Given the description of an element on the screen output the (x, y) to click on. 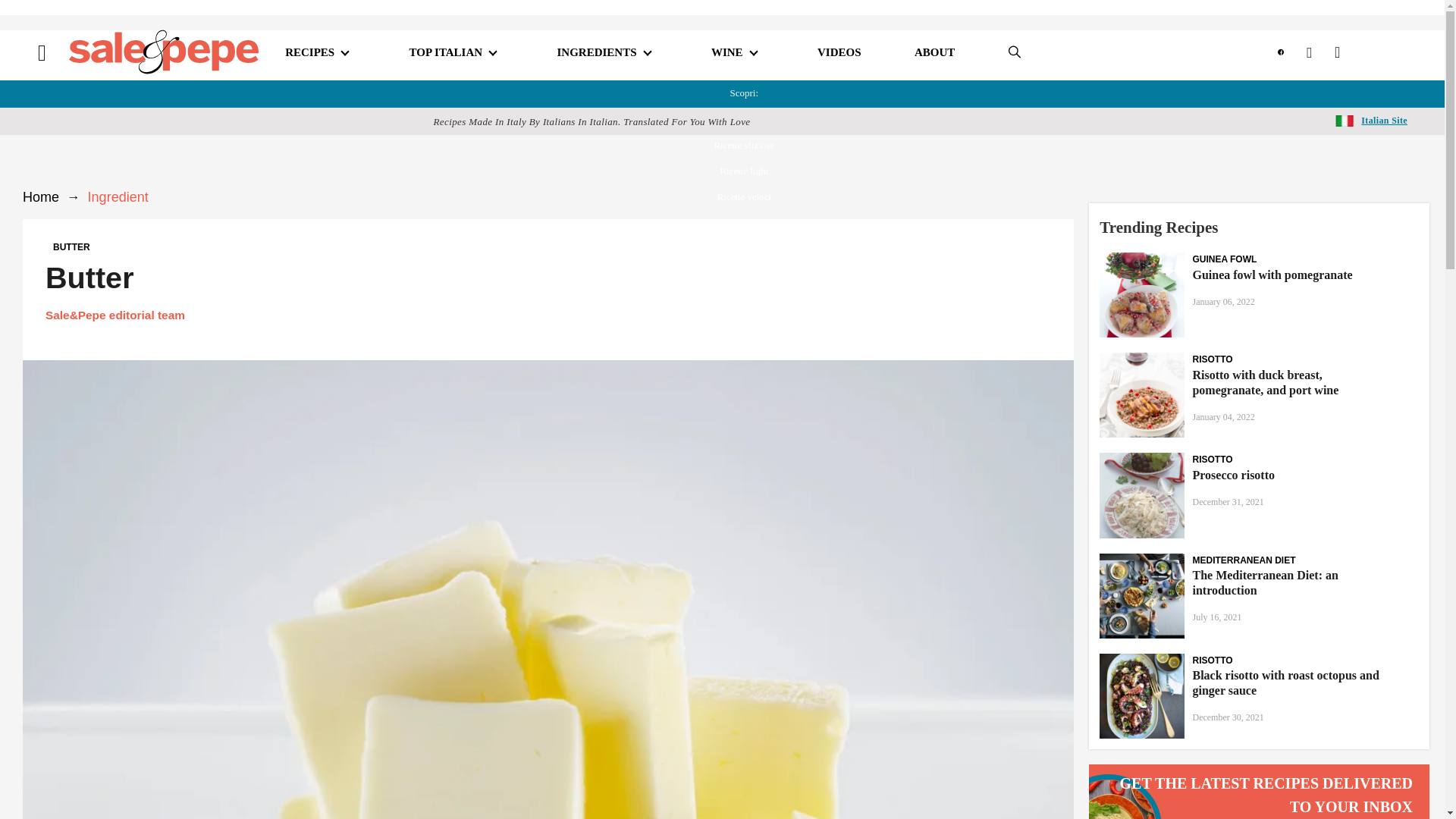
RECIPES (309, 51)
INGREDIENTS (596, 51)
TOP ITALIAN (446, 51)
